Given the description of an element on the screen output the (x, y) to click on. 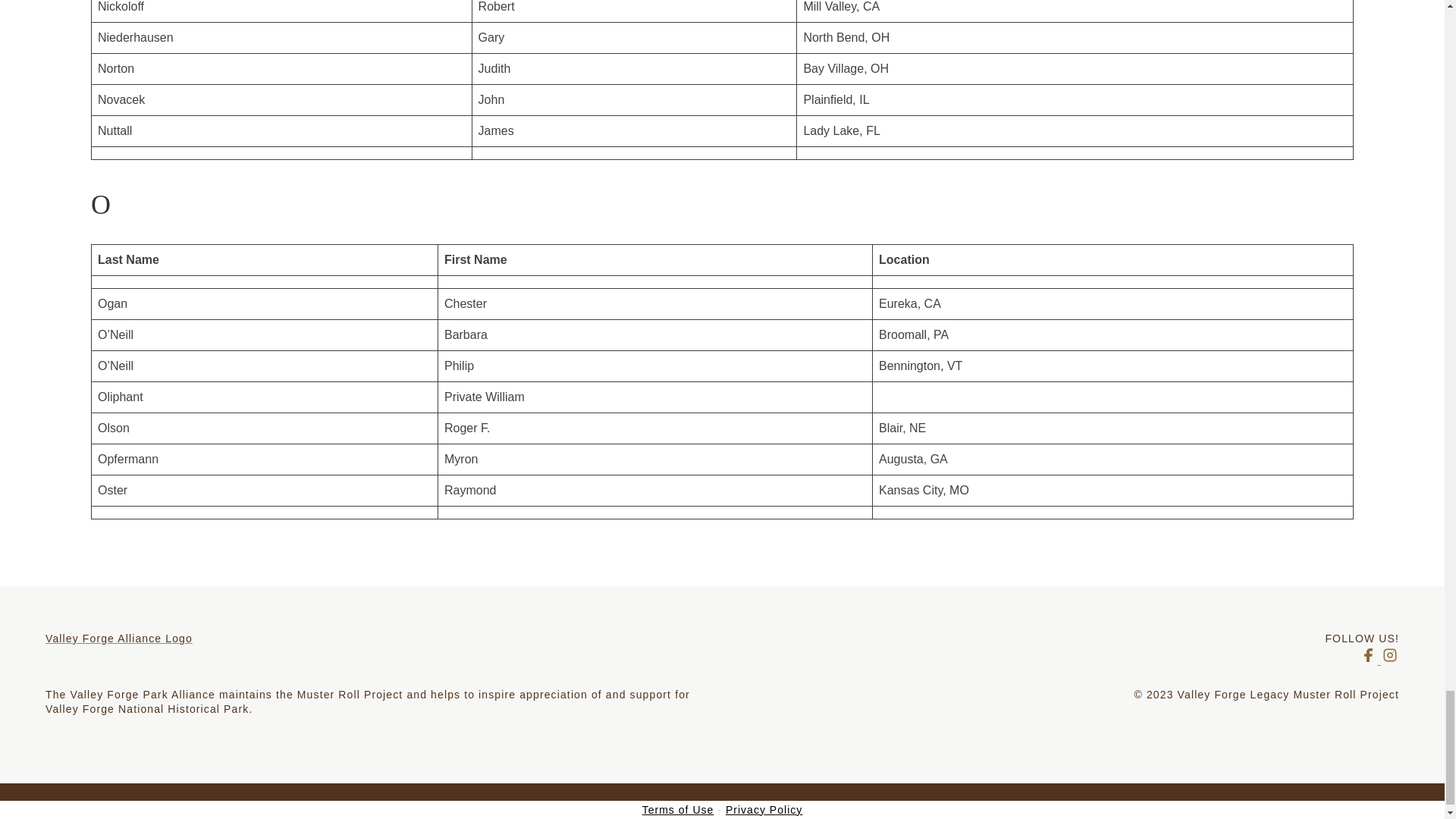
Terms of Use (678, 809)
Privacy Policy (763, 809)
Valley Forge Alliance Logo (383, 638)
